Given the description of an element on the screen output the (x, y) to click on. 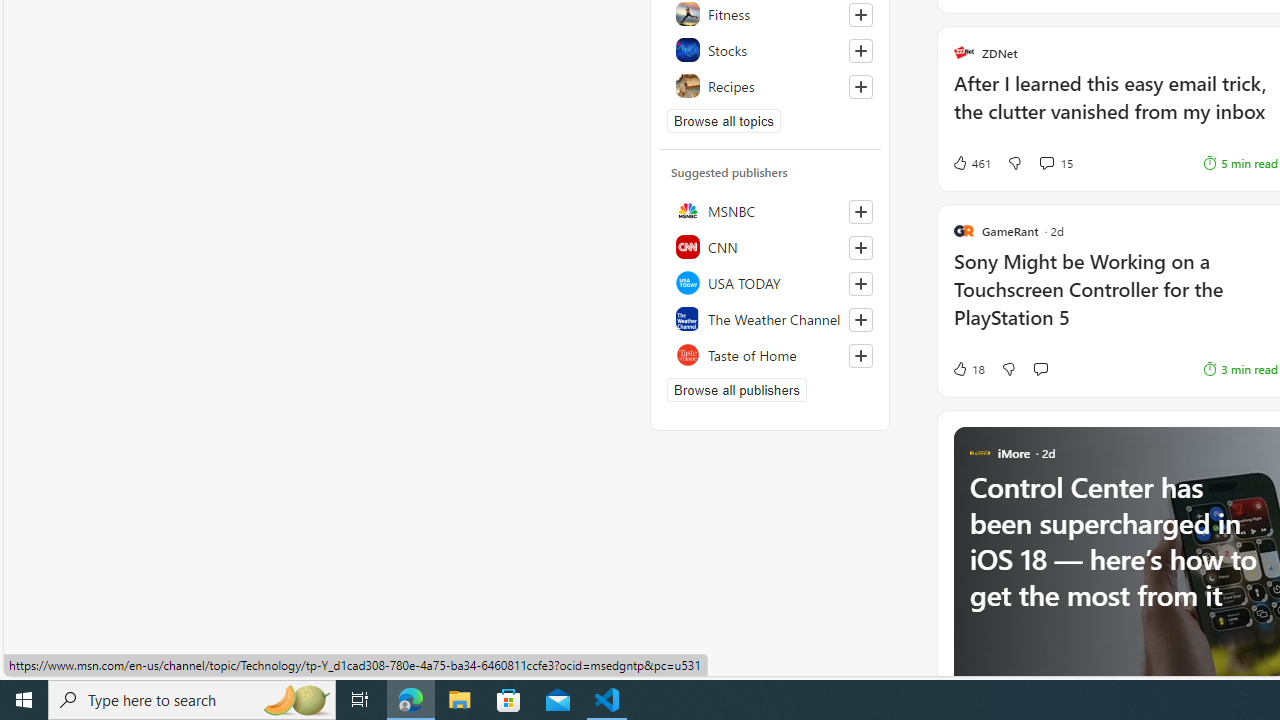
The Weather Channel (770, 318)
MSNBC (770, 210)
Follow this source (860, 355)
461 Like (970, 162)
Browse all publishers (736, 389)
CNN (770, 246)
Browse all topics (724, 120)
Stocks (770, 49)
View comments 15 Comment (1046, 162)
Recipes (770, 85)
View comments 15 Comment (1055, 162)
